Given the description of an element on the screen output the (x, y) to click on. 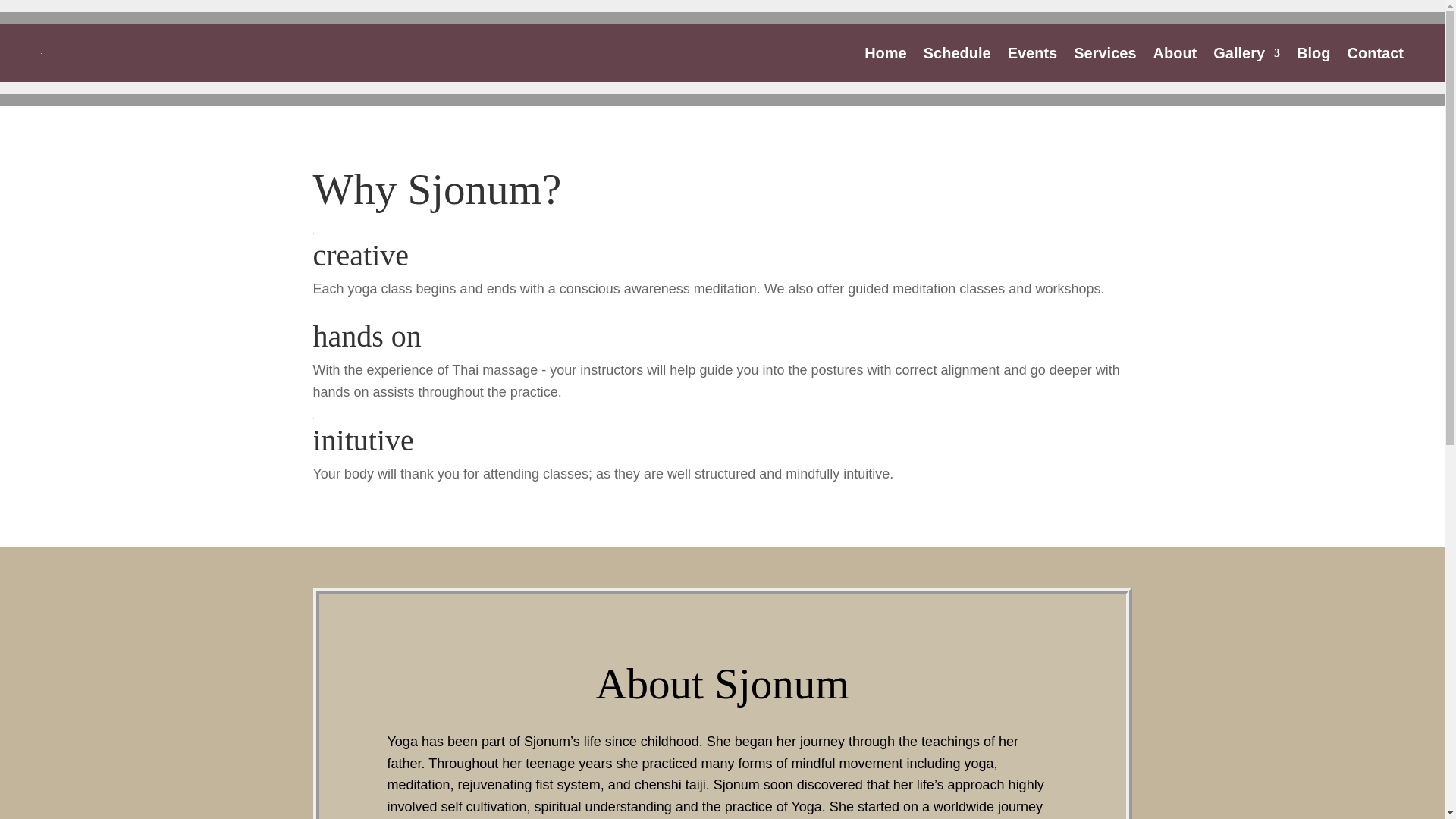
Services (1104, 52)
Contact (1375, 52)
Gallery (1245, 52)
Schedule (957, 52)
